Given the description of an element on the screen output the (x, y) to click on. 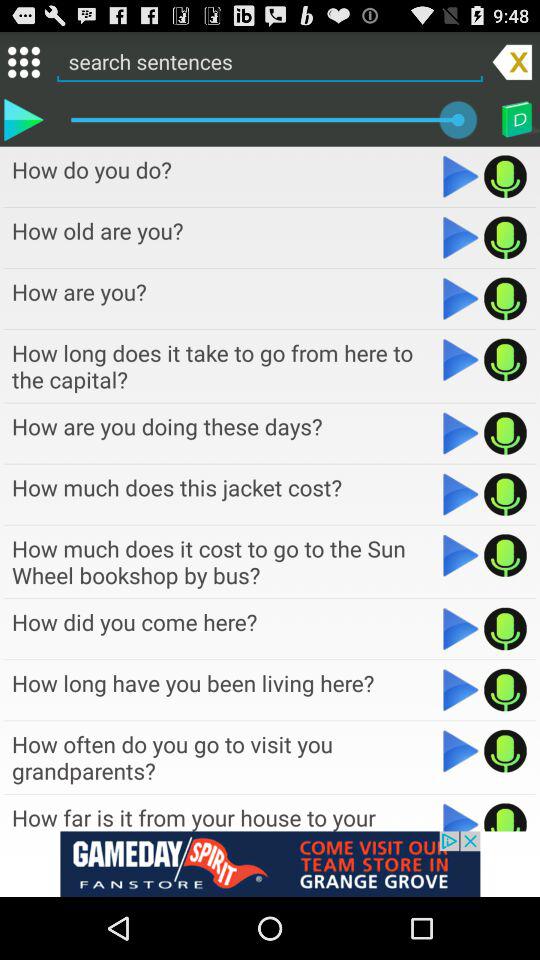
play option (460, 555)
